Given the description of an element on the screen output the (x, y) to click on. 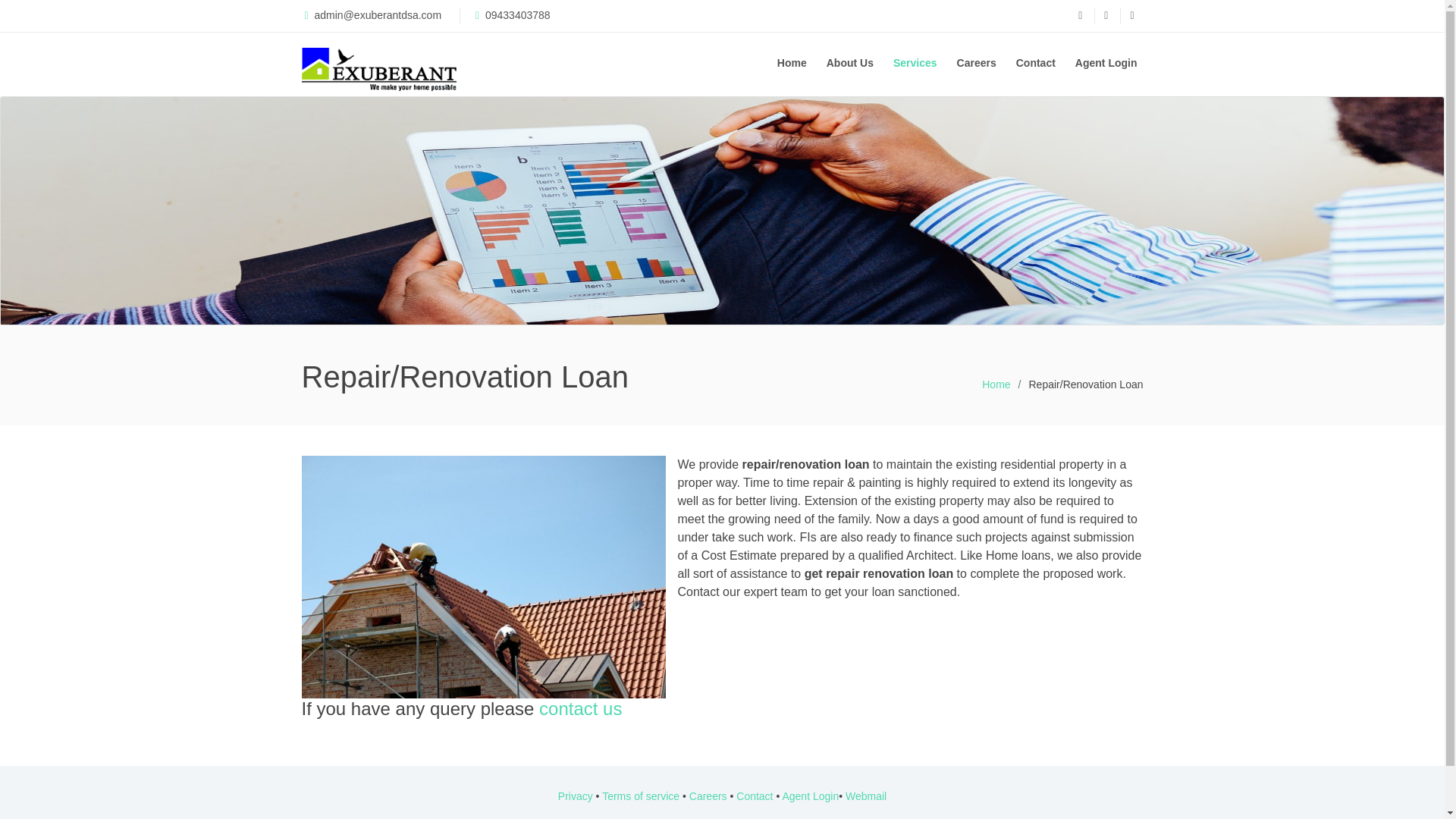
Webmail (865, 796)
Careers (707, 796)
Careers (976, 62)
Home (791, 62)
About Us (850, 62)
Services (914, 62)
Privacy (574, 796)
Contact (754, 796)
Agent Login (809, 796)
Terms of service (640, 796)
Home (995, 383)
contact us (579, 708)
09433403788 (515, 15)
Contact (1035, 62)
Agent Login (1105, 62)
